Given the description of an element on the screen output the (x, y) to click on. 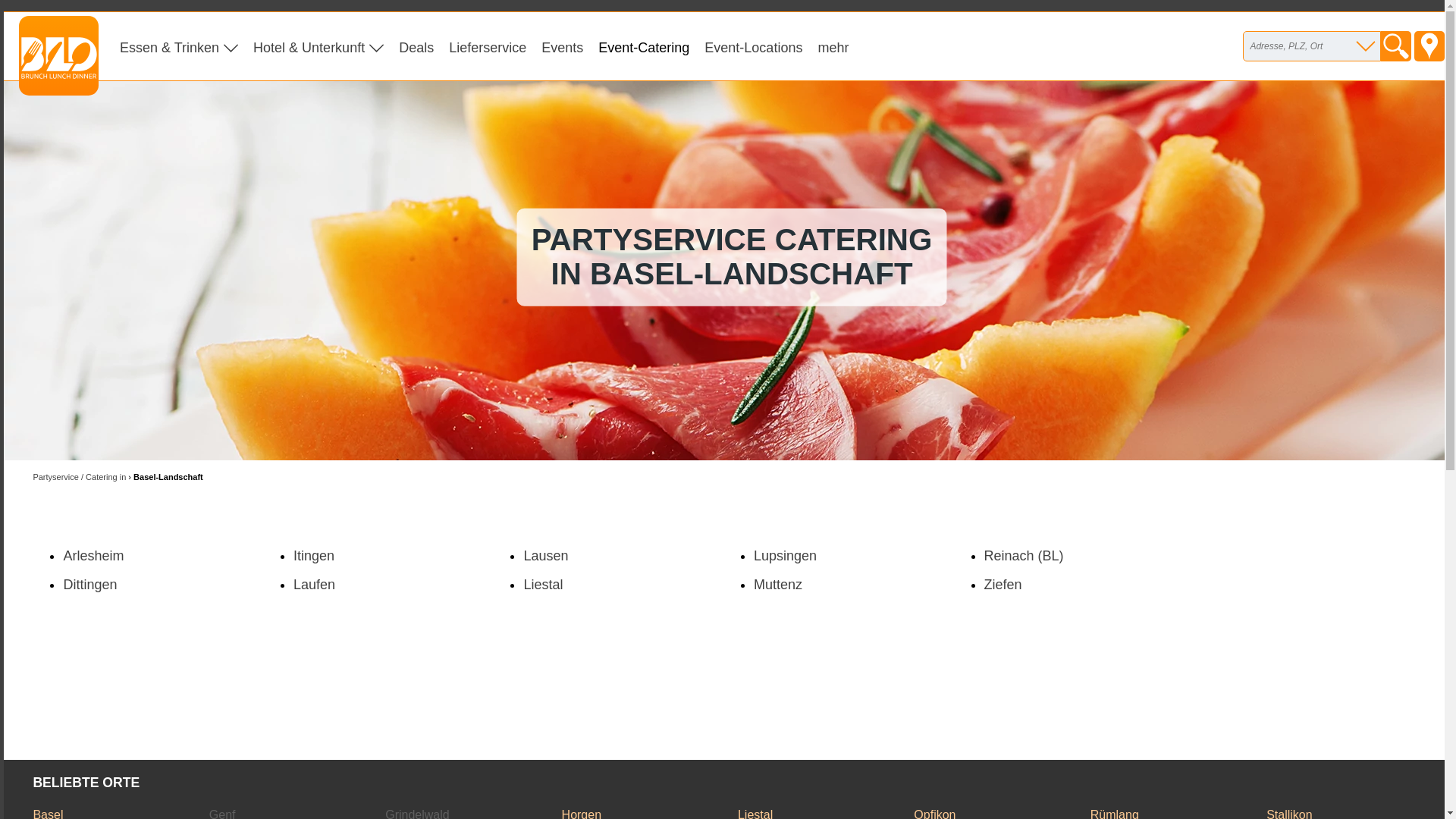
Lausen Element type: text (545, 555)
Ihr Standort Element type: hover (1429, 45)
Hotel & Unterkunft Element type: text (318, 47)
Essen & Trinken Element type: text (178, 47)
Suche starten Element type: hover (1395, 45)
mehr Element type: text (832, 47)
Events Element type: text (561, 47)
Liestal Element type: text (542, 584)
Lupsingen Element type: text (784, 555)
Reinach (BL) Element type: text (1023, 555)
Event-Locations Element type: text (753, 47)
Dittingen Element type: text (89, 584)
  Element type: text (1429, 45)
Lieferservice Element type: text (487, 47)
Event-Catering Element type: text (643, 47)
Ziefen Element type: text (1003, 584)
Muttenz Element type: text (777, 584)
Itingen Element type: text (313, 555)
Deals Element type: text (416, 47)
Laufen Element type: text (314, 584)
Partyservice / Catering in Element type: text (78, 476)
Arlesheim Element type: text (92, 555)
